Given the description of an element on the screen output the (x, y) to click on. 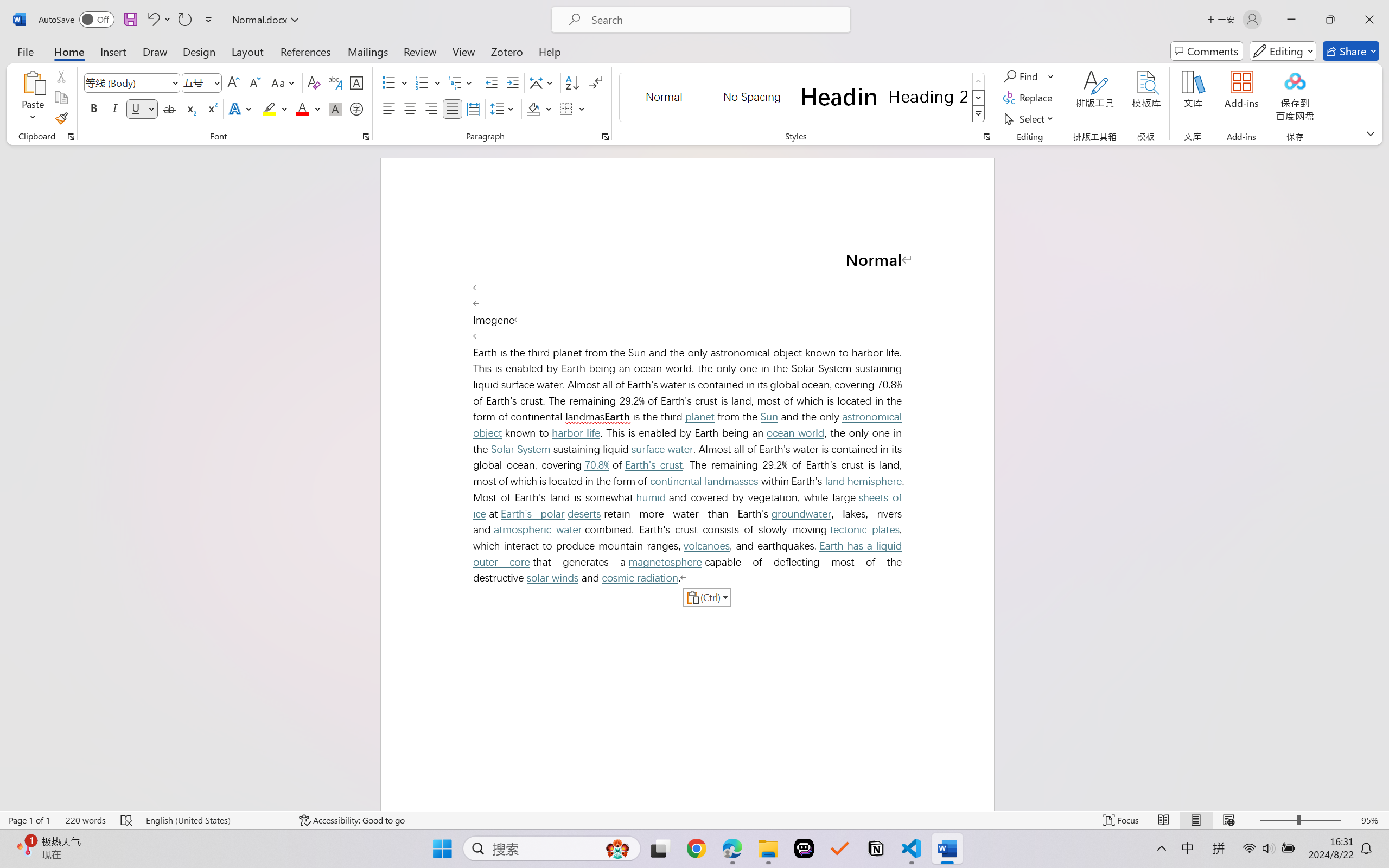
Bold (94, 108)
Font Color Red (302, 108)
Styles (978, 113)
astronomical object (690, 424)
Shrink Font (253, 82)
solar winds (551, 578)
Italic (115, 108)
surface water (662, 448)
